Given the description of an element on the screen output the (x, y) to click on. 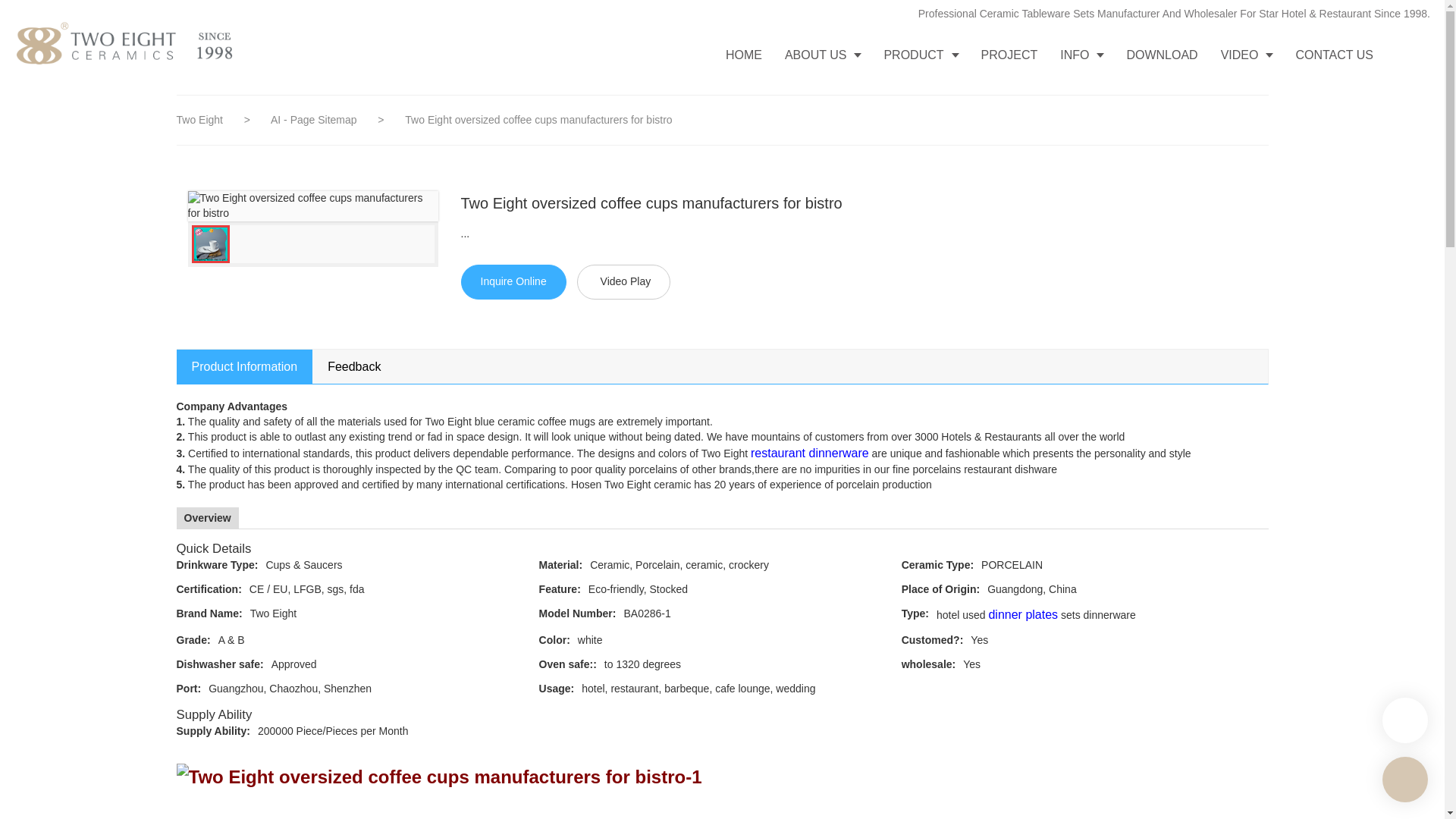
PROJECT (1009, 55)
Two Eight (199, 119)
Material (560, 564)
PORCELAIN (1122, 565)
Feature (559, 589)
Video Play (623, 281)
AI - Page Sitemap (314, 119)
Ceramic Type (937, 564)
Two Eight (394, 613)
Place of Origin (940, 589)
